Given the description of an element on the screen output the (x, y) to click on. 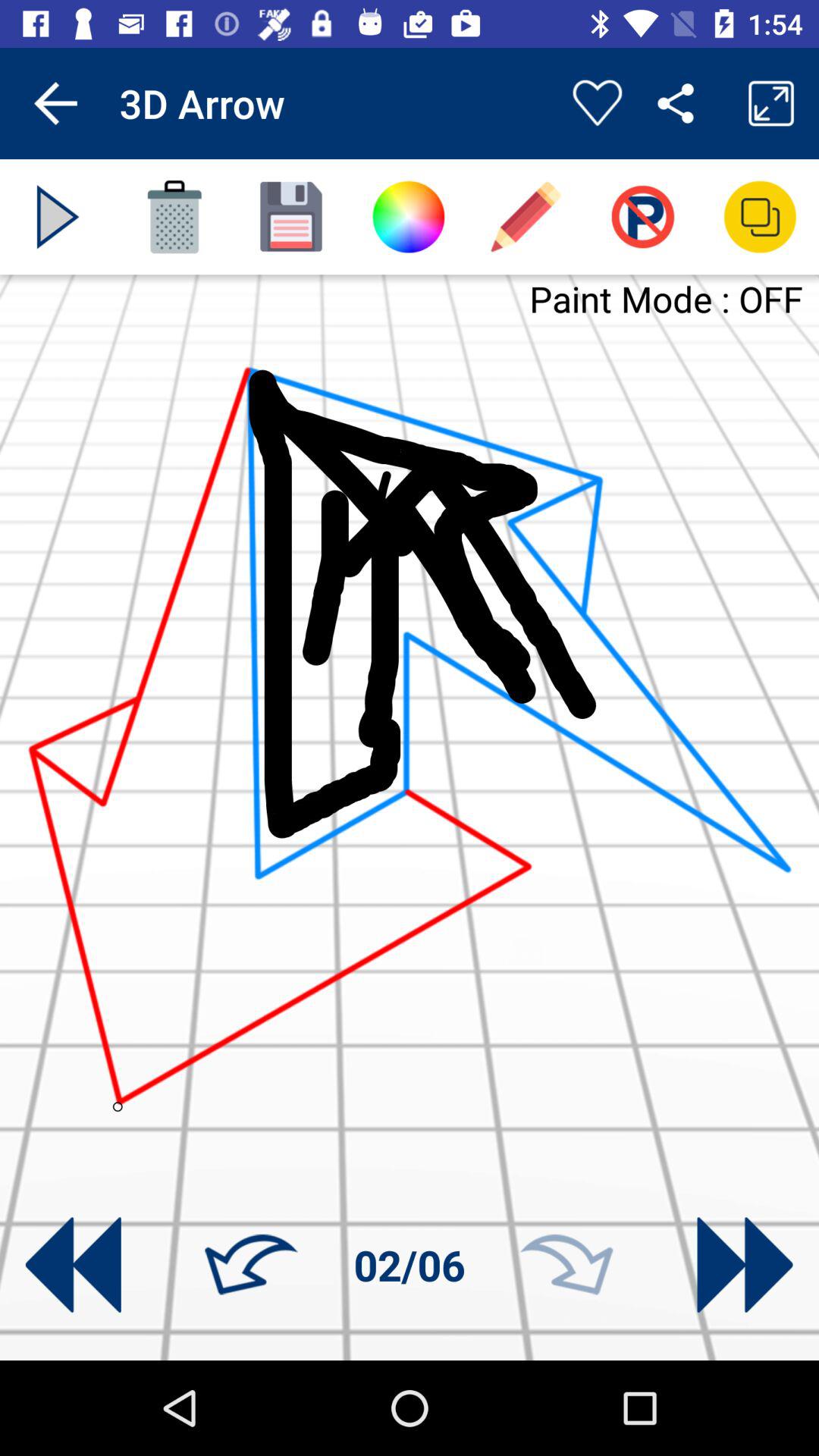
go back (73, 1264)
